Given the description of an element on the screen output the (x, y) to click on. 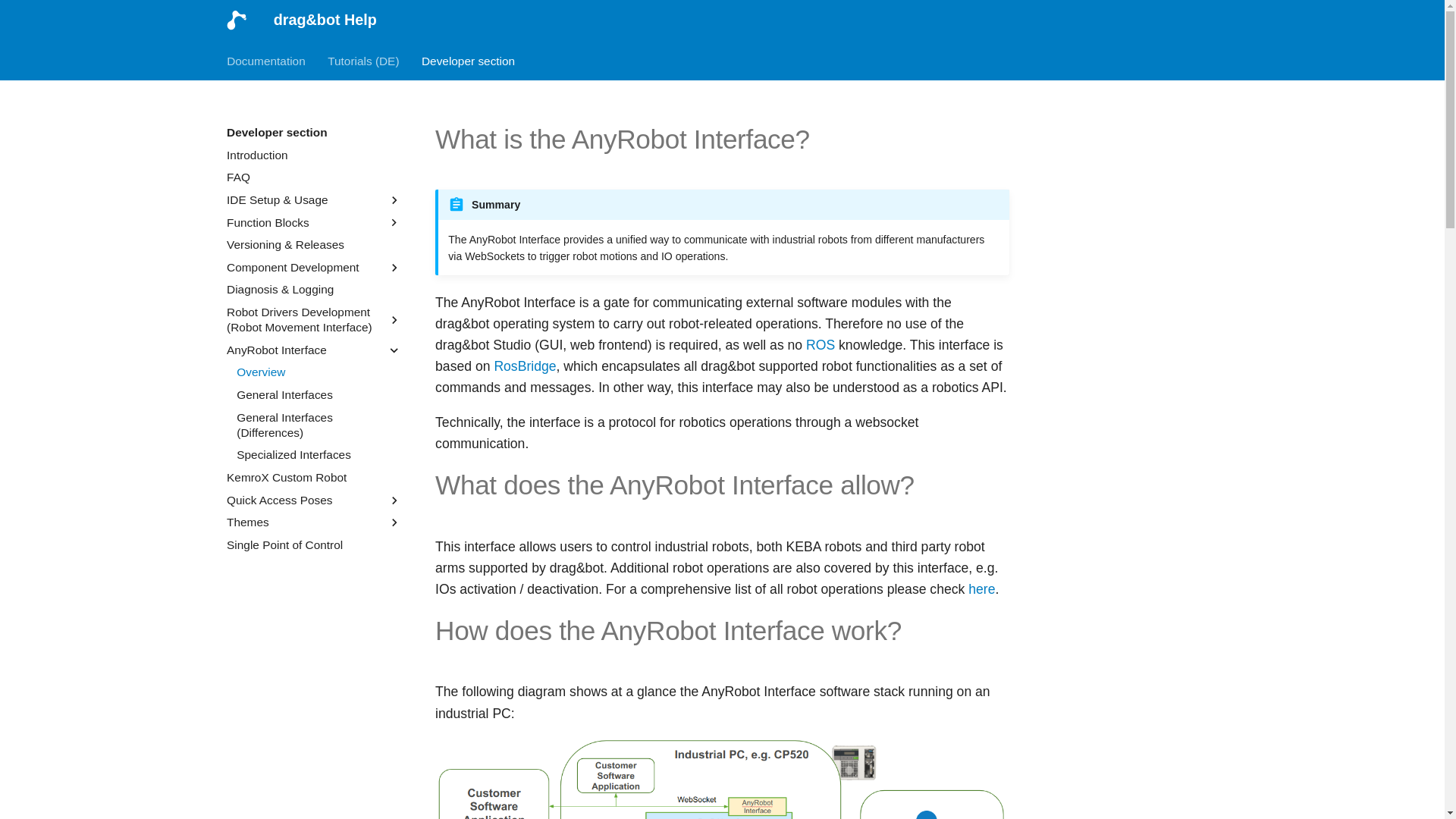
Documentation (266, 60)
Developer section (468, 60)
